Given the description of an element on the screen output the (x, y) to click on. 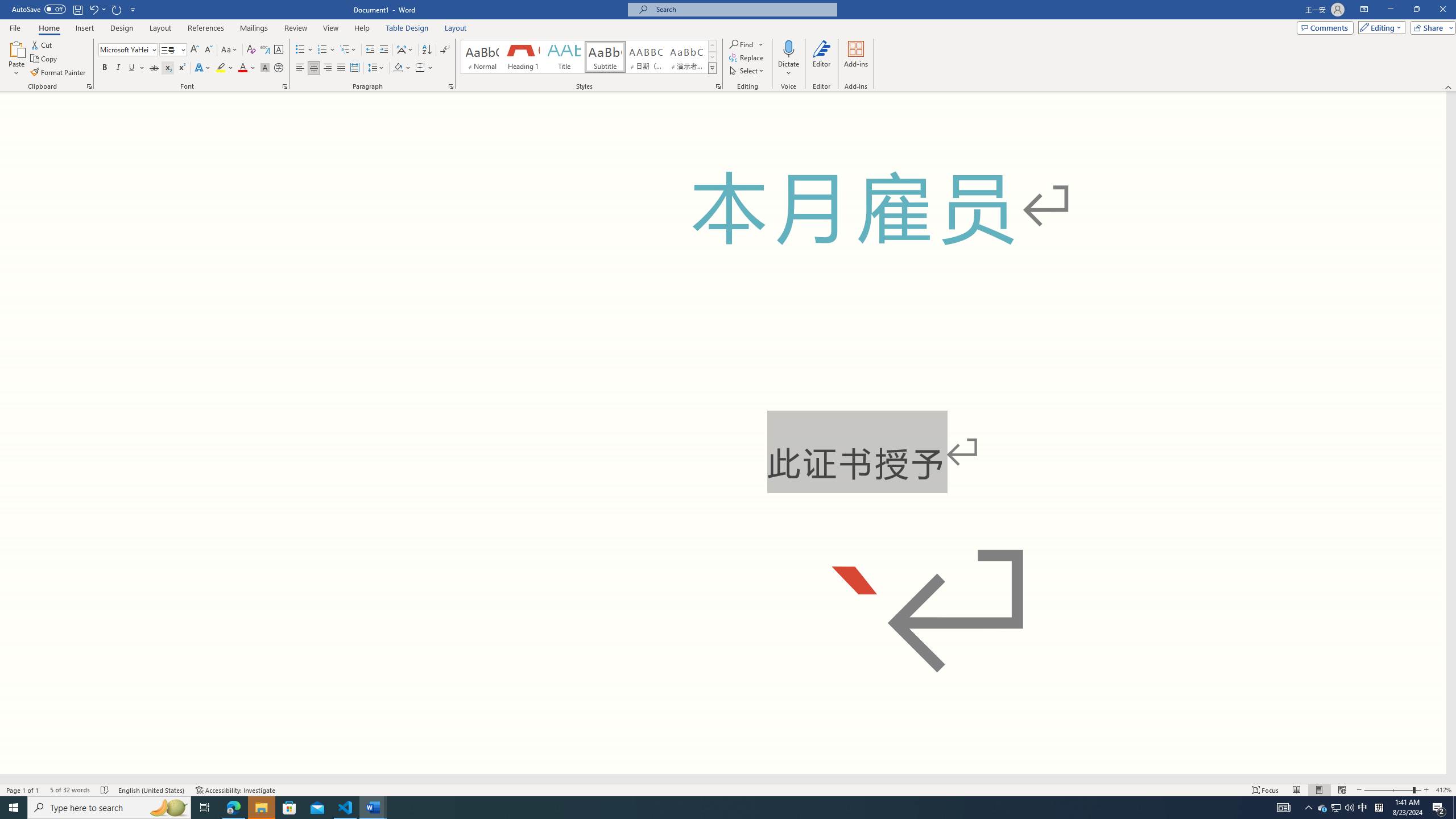
Font Color Red (241, 67)
Undo Subscript (96, 9)
Word Count 5 of 32 words (69, 790)
